Given the description of an element on the screen output the (x, y) to click on. 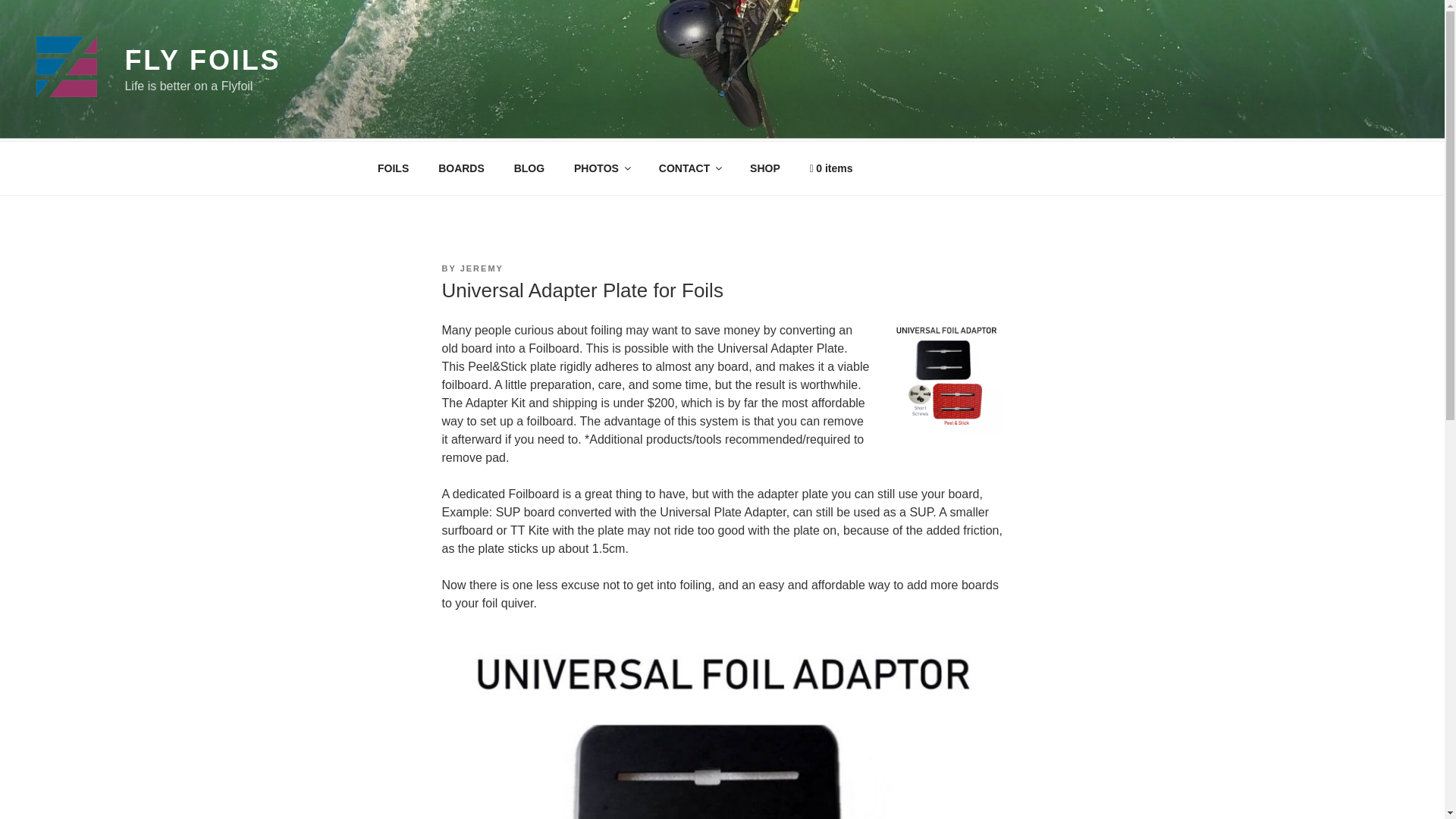
0 items (831, 168)
CONTACT (689, 168)
FOILS (393, 168)
BLOG (528, 168)
BOARDS (461, 168)
FLY FOILS (202, 60)
PHOTOS (601, 168)
SHOP (764, 168)
Start shopping (831, 168)
JEREMY (481, 267)
